Given the description of an element on the screen output the (x, y) to click on. 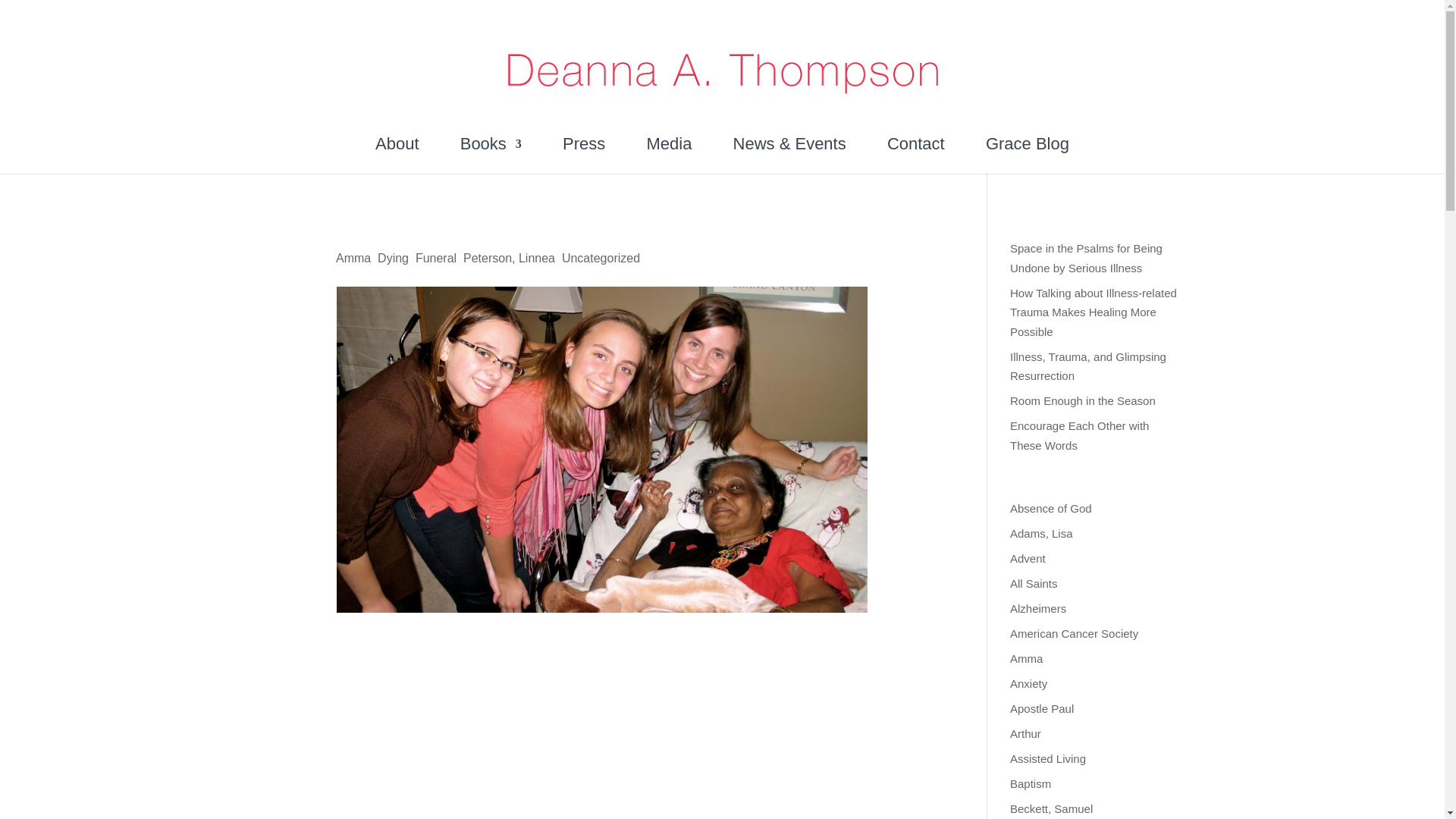
Media (668, 155)
Contact (915, 155)
About (397, 155)
Space in the Psalms for Being Undone by Serious Illness (1085, 257)
Funeral (435, 257)
Room Enough in the Season (1083, 400)
Adams, Lisa (1041, 533)
Absence of God (1051, 508)
Press (583, 155)
Dying (393, 257)
Peterson, Linnea (508, 257)
Advent (1027, 558)
Grace Blog (1026, 155)
Uncategorized (601, 257)
Books (490, 155)
